Given the description of an element on the screen output the (x, y) to click on. 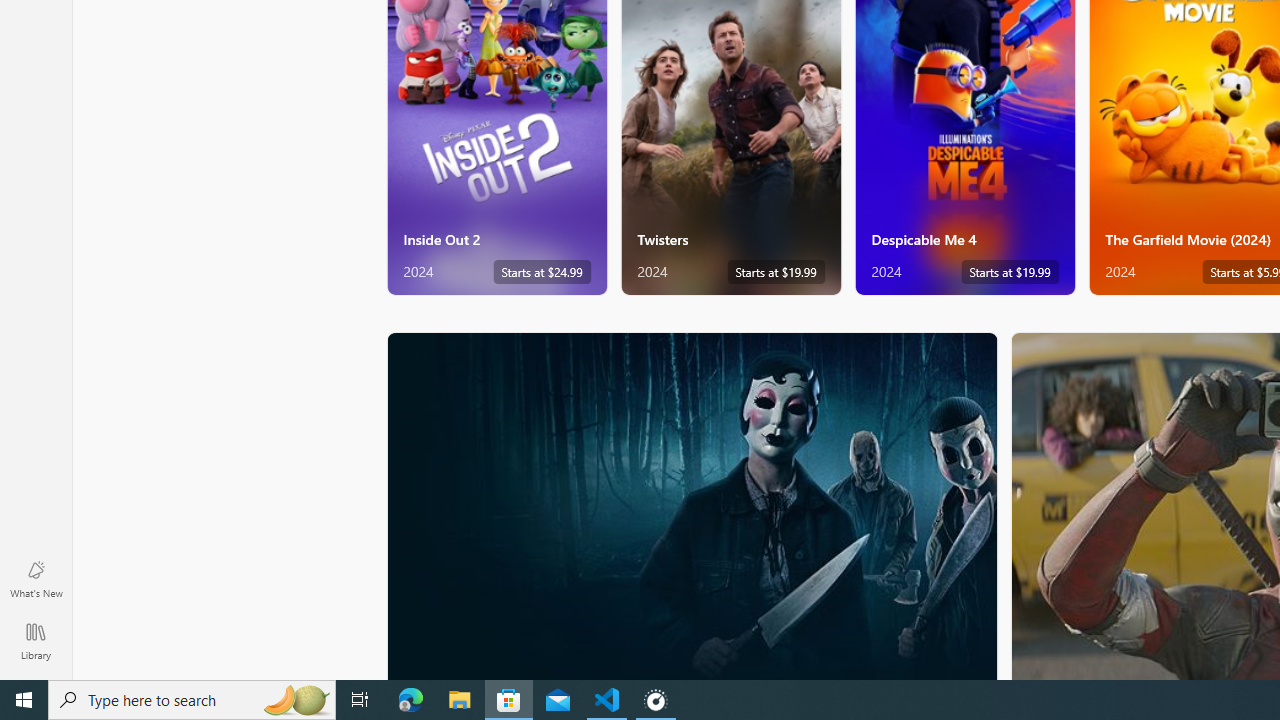
Horror (692, 505)
AutomationID: PosterImage (690, 505)
What's New (35, 578)
Library (35, 640)
